Given the description of an element on the screen output the (x, y) to click on. 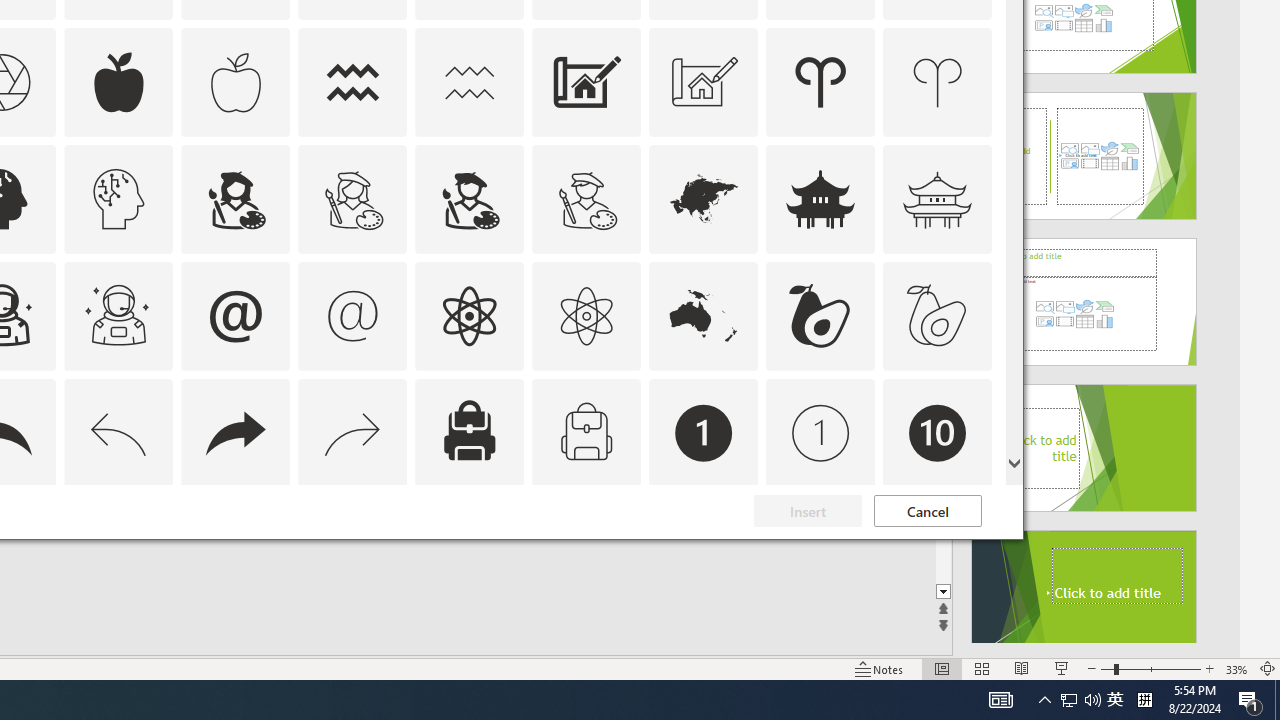
AutomationID: Icons_AstronautMale_M (118, 316)
AutomationID: Icons_Aquarius (353, 82)
AutomationID: Icons_Aries (820, 82)
AutomationID: Icons_Avocado (820, 316)
AutomationID: Icons_Architecture_M (703, 82)
AutomationID: Icons_Backpack (469, 432)
